Given the description of an element on the screen output the (x, y) to click on. 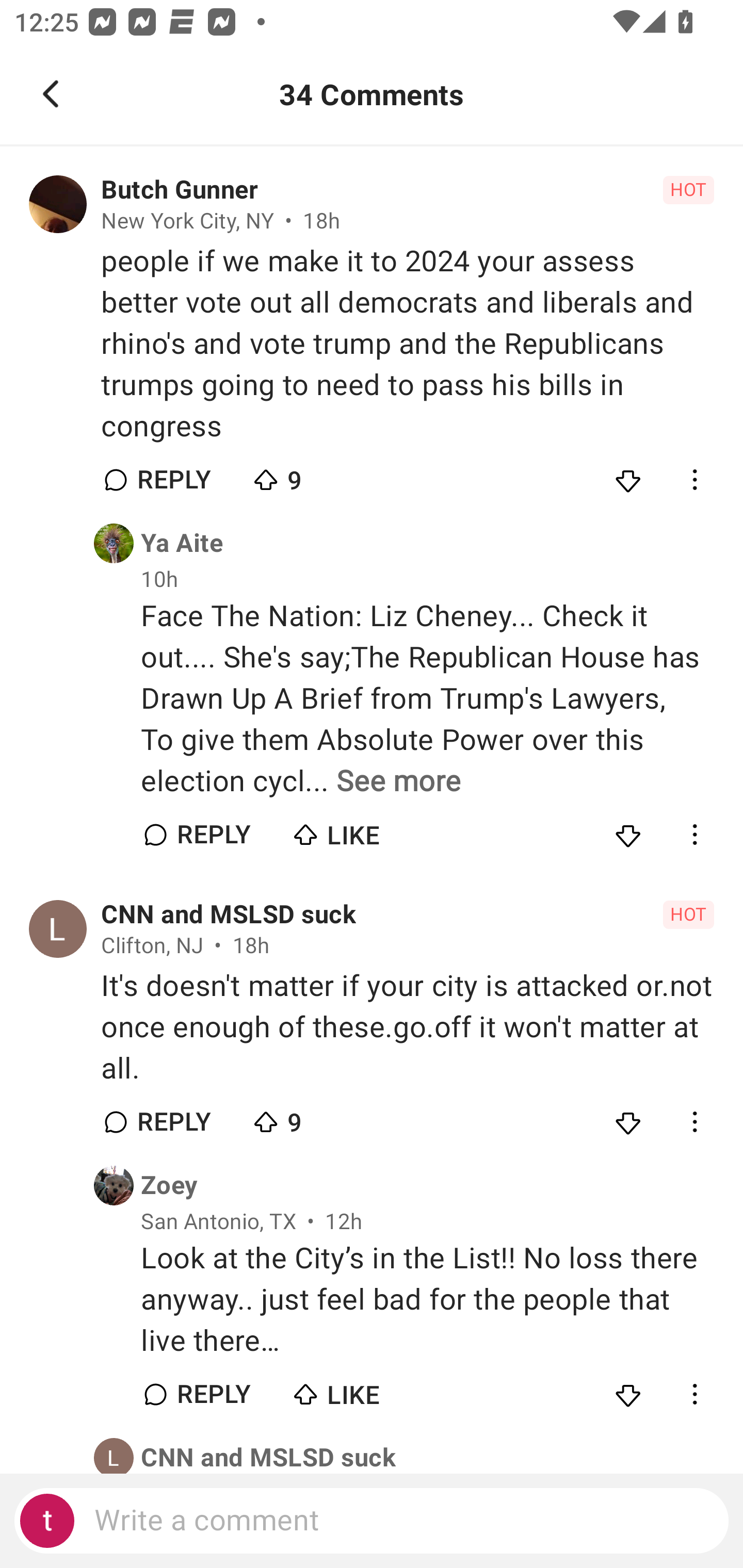
Navigate up (50, 93)
Butch Gunner (179, 190)
9 (320, 475)
REPLY (173, 480)
Ya Aite (181, 543)
LIKE (360, 830)
REPLY (213, 834)
CNN and MSLSD suck (228, 914)
9 (320, 1117)
REPLY (173, 1121)
Zoey (169, 1185)
LIKE (360, 1389)
REPLY (213, 1394)
CNN and MSLSD suck (268, 1457)
Write a comment (371, 1520)
